Given the description of an element on the screen output the (x, y) to click on. 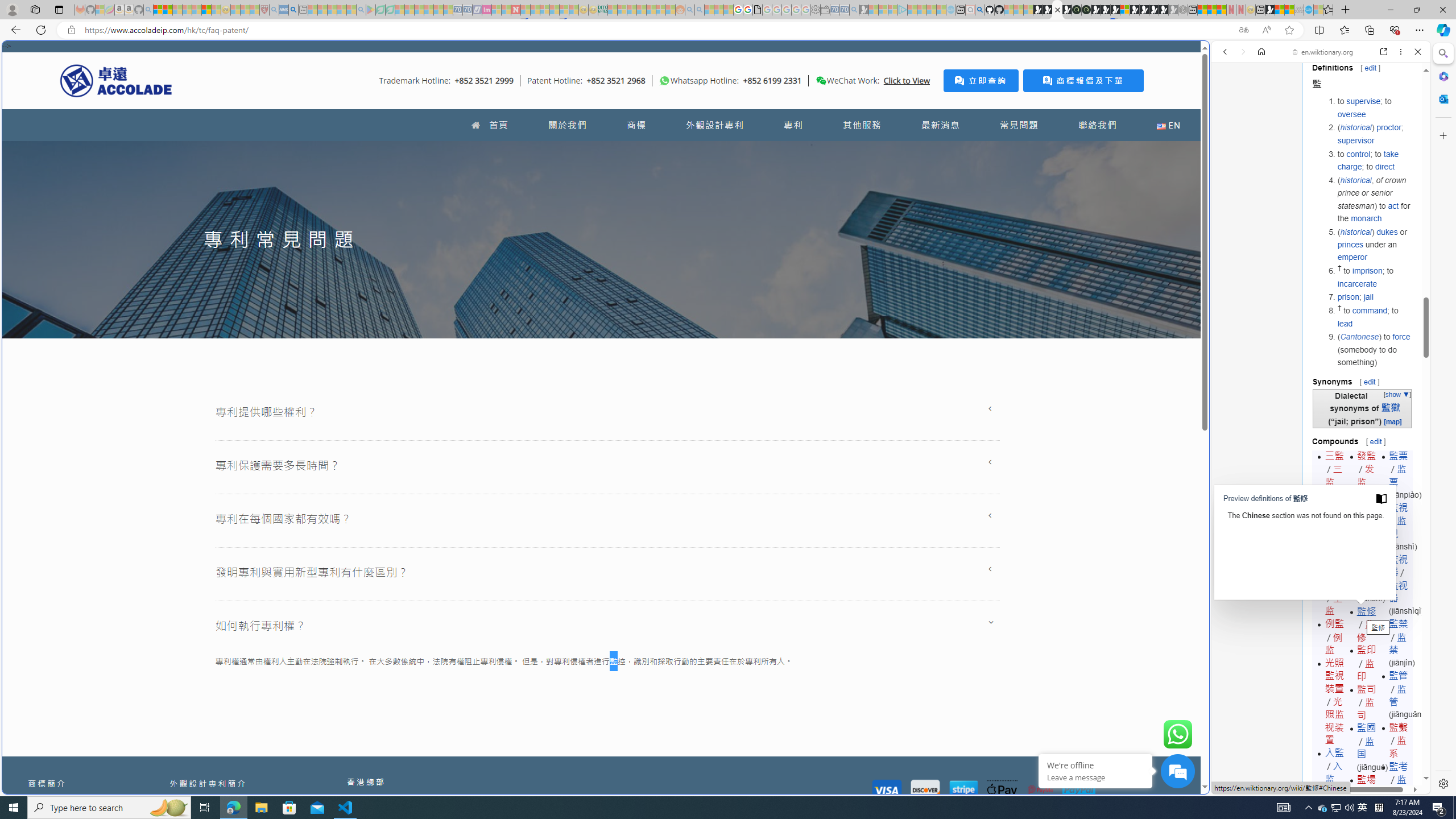
Search or enter web address (922, 108)
Home | Sky Blue Bikes - Sky Blue Bikes - Sleeping (950, 9)
Bing Real Estate - Home sales and rental listings - Sleeping (853, 9)
